Given the description of an element on the screen output the (x, y) to click on. 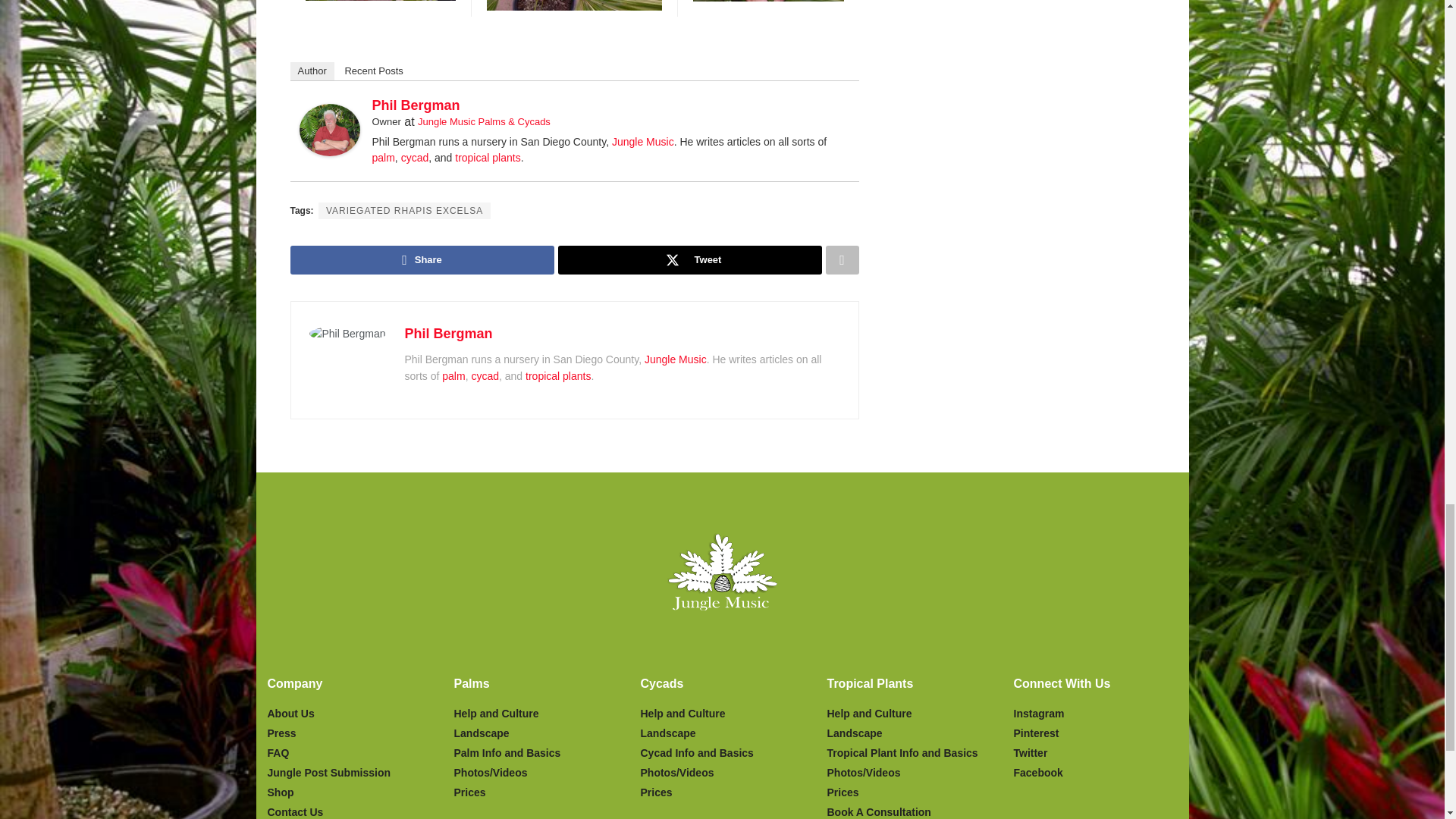
Phil Bergman (328, 128)
junglemusic-145-logo-1 (721, 572)
